Given the description of an element on the screen output the (x, y) to click on. 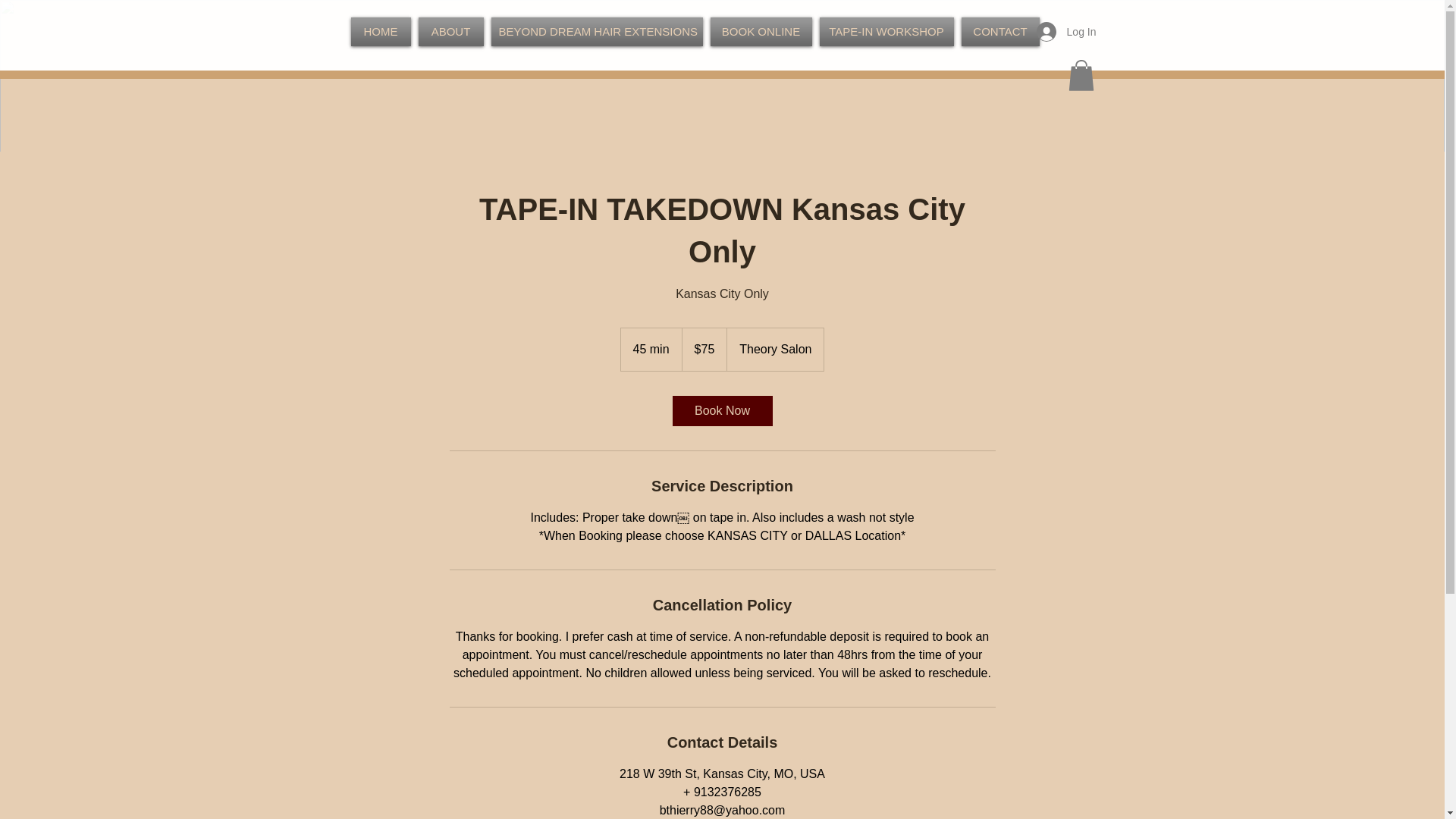
Book Now (721, 410)
HOME (381, 31)
BOOK ONLINE (760, 31)
BEYOND DREAM HAIR EXTENSIONS (596, 31)
Log In (1066, 31)
ABOUT (449, 31)
CONTACT (997, 31)
TAPE-IN WORKSHOP (886, 31)
